Given the description of an element on the screen output the (x, y) to click on. 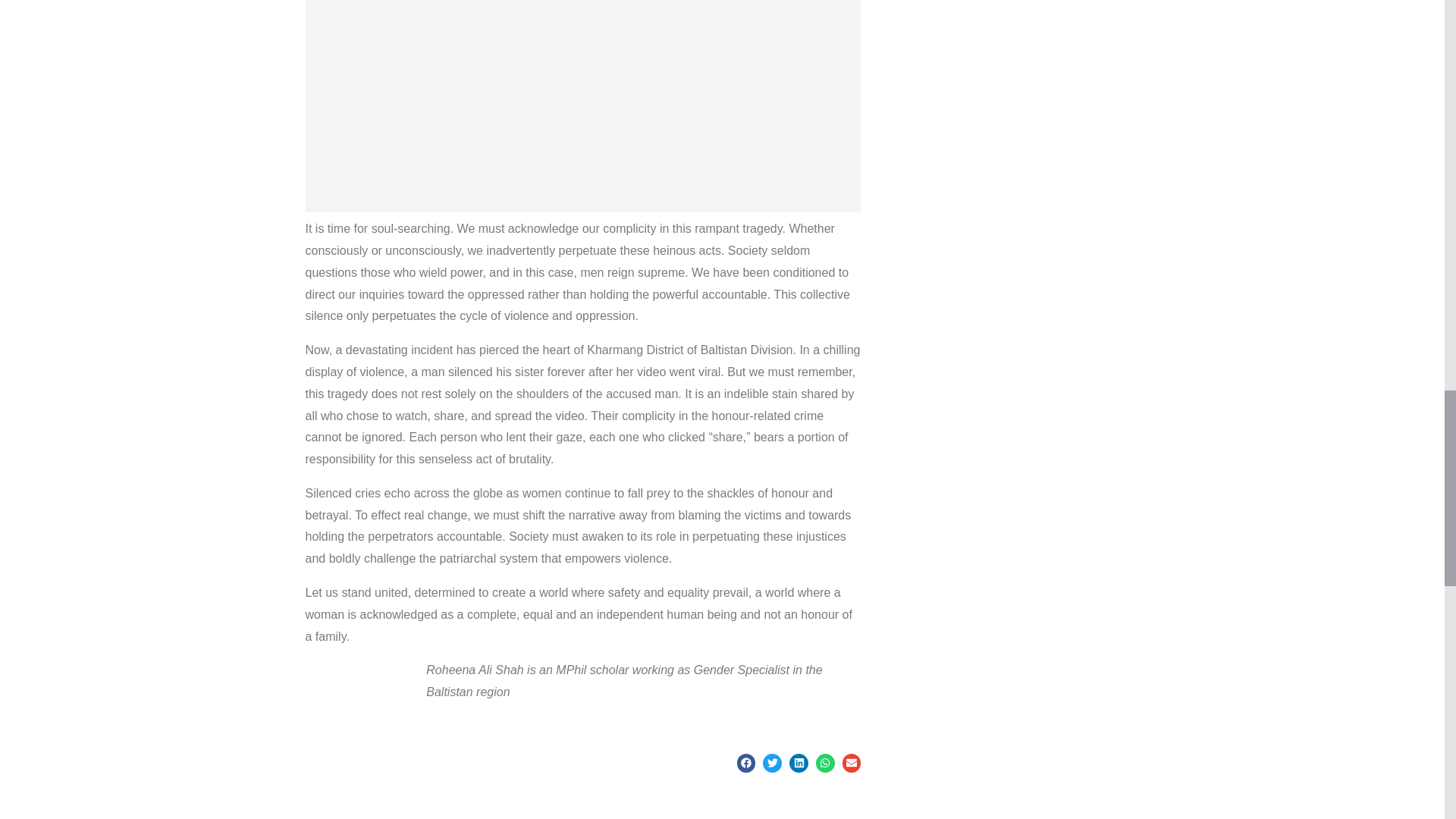
Advertisement (582, 106)
